Given the description of an element on the screen output the (x, y) to click on. 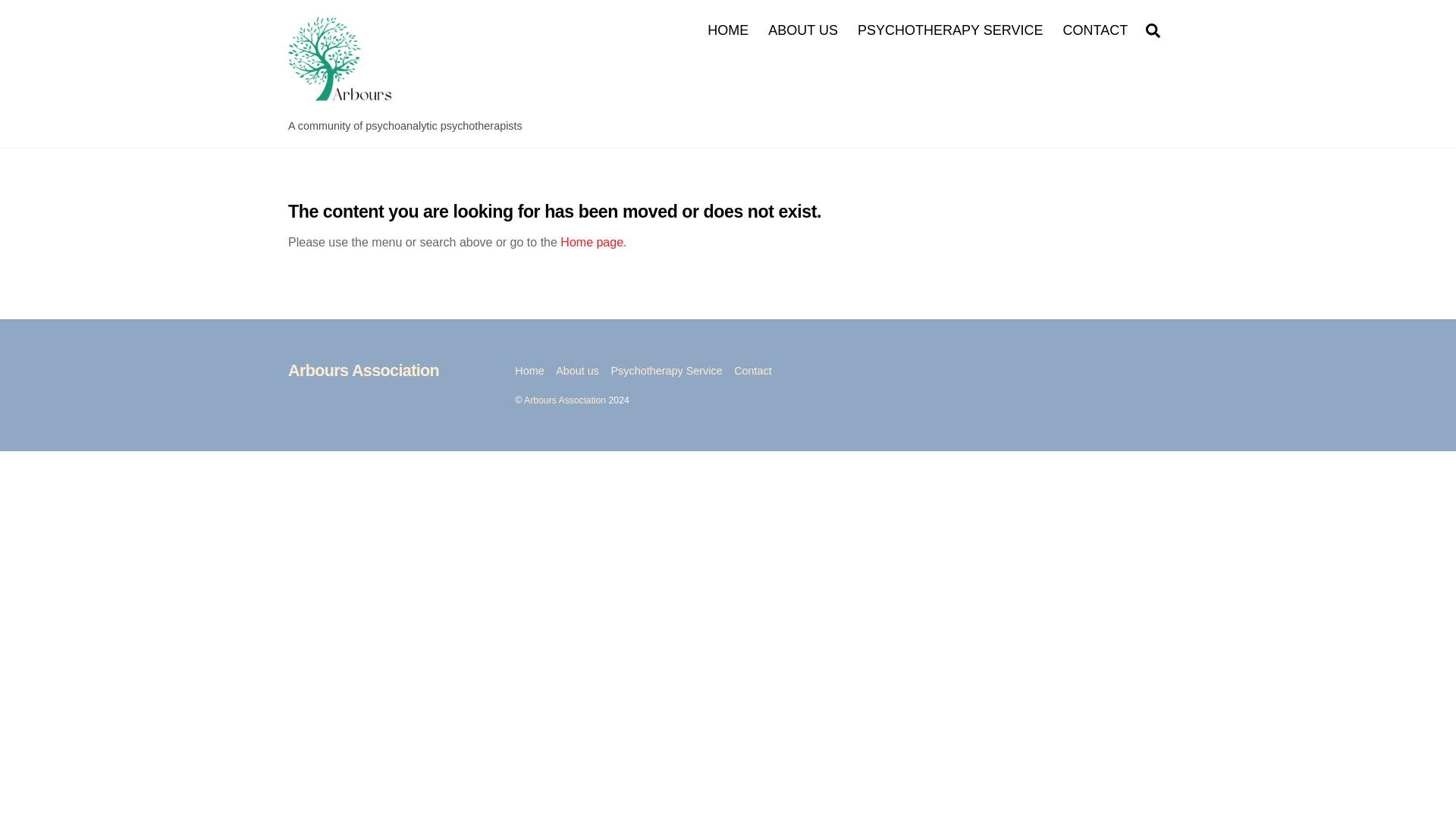
Search (1152, 30)
Contact (752, 370)
Arbours Association (363, 370)
Arbours Association (564, 399)
Psychotherapy Service (666, 370)
CONTACT (1094, 30)
Arbours Association (727, 30)
Home (344, 103)
ABOUT US (529, 370)
About us (802, 30)
Arbours Association (577, 370)
PSYCHOTHERAPY SERVICE (363, 370)
Home page (949, 30)
HOME (591, 241)
